Given the description of an element on the screen output the (x, y) to click on. 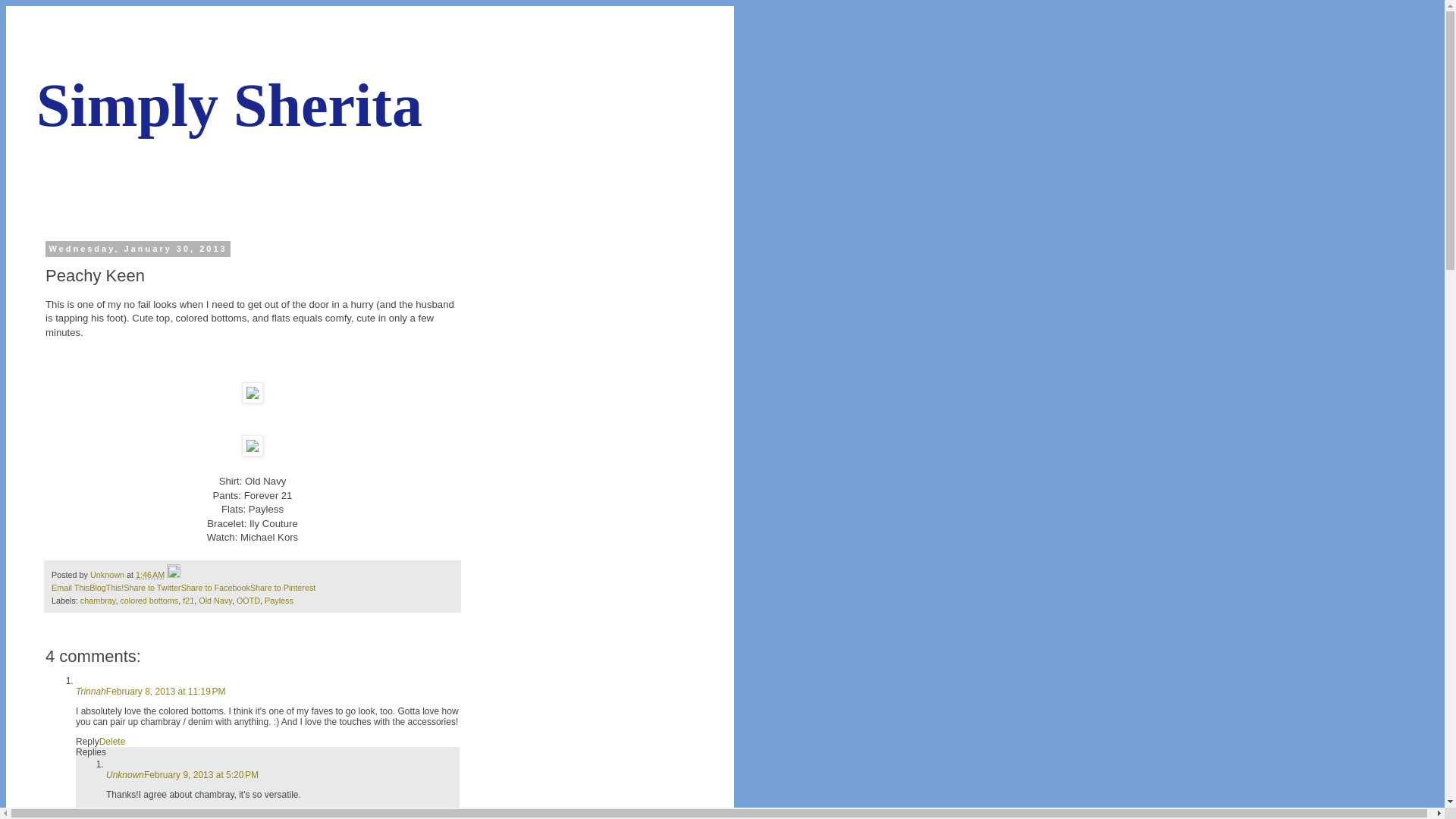
Unknown (108, 574)
Replies (90, 751)
Share to Facebook (215, 587)
Unknown (125, 774)
Delete (119, 814)
BlogThis! (105, 587)
Simply Sherita (229, 105)
BlogThis! (105, 587)
Share to Pinterest (282, 587)
Old Navy (214, 600)
Edit Post (173, 574)
Share to Pinterest (282, 587)
permanent link (149, 574)
Payless (279, 600)
